Given the description of an element on the screen output the (x, y) to click on. 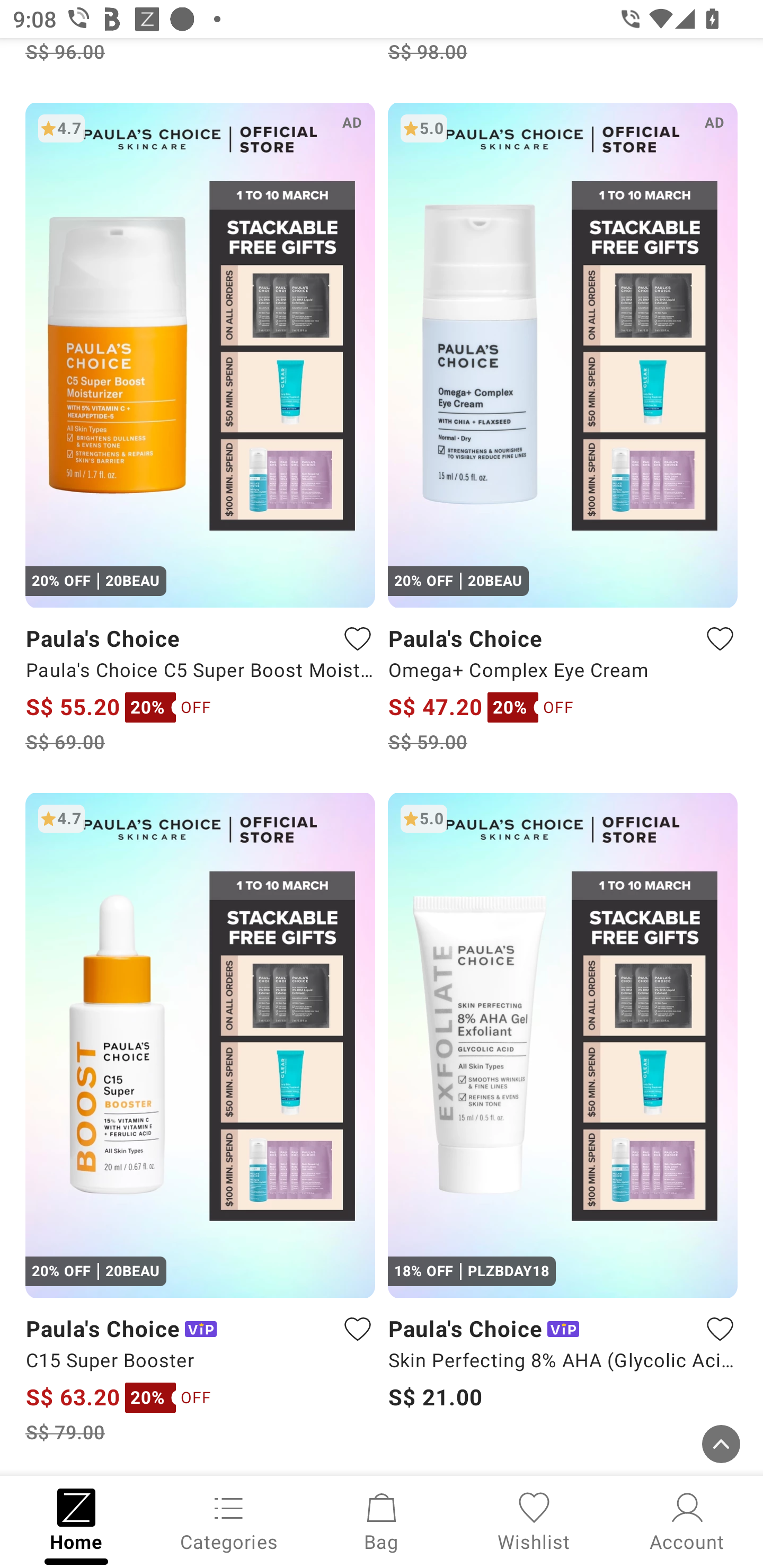
Categories (228, 1519)
Bag (381, 1519)
Wishlist (533, 1519)
Account (686, 1519)
